Given the description of an element on the screen output the (x, y) to click on. 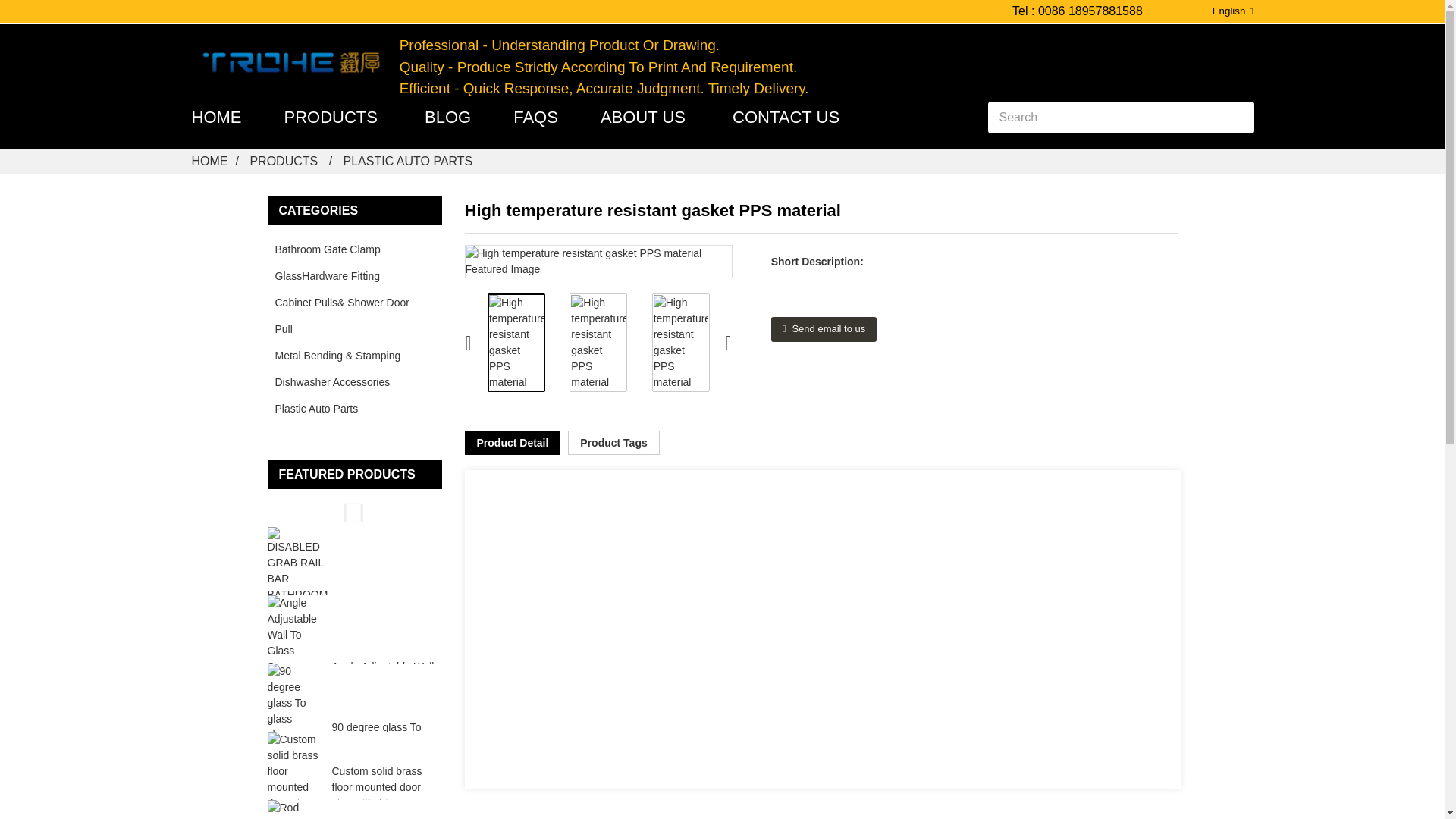
HOME (208, 160)
Bathroom Gate Clamp GlassHardware Fitting (343, 262)
CONTACT US (786, 117)
HOME (215, 117)
Dishwasher Accessories (343, 382)
ABOUT US (642, 117)
Plastic Auto Parts (408, 160)
Angle Adjustable Wall To Glass Support Bar Shower Do... (382, 682)
0086 18957881588 (1090, 10)
PRODUCTS (282, 160)
